Given the description of an element on the screen output the (x, y) to click on. 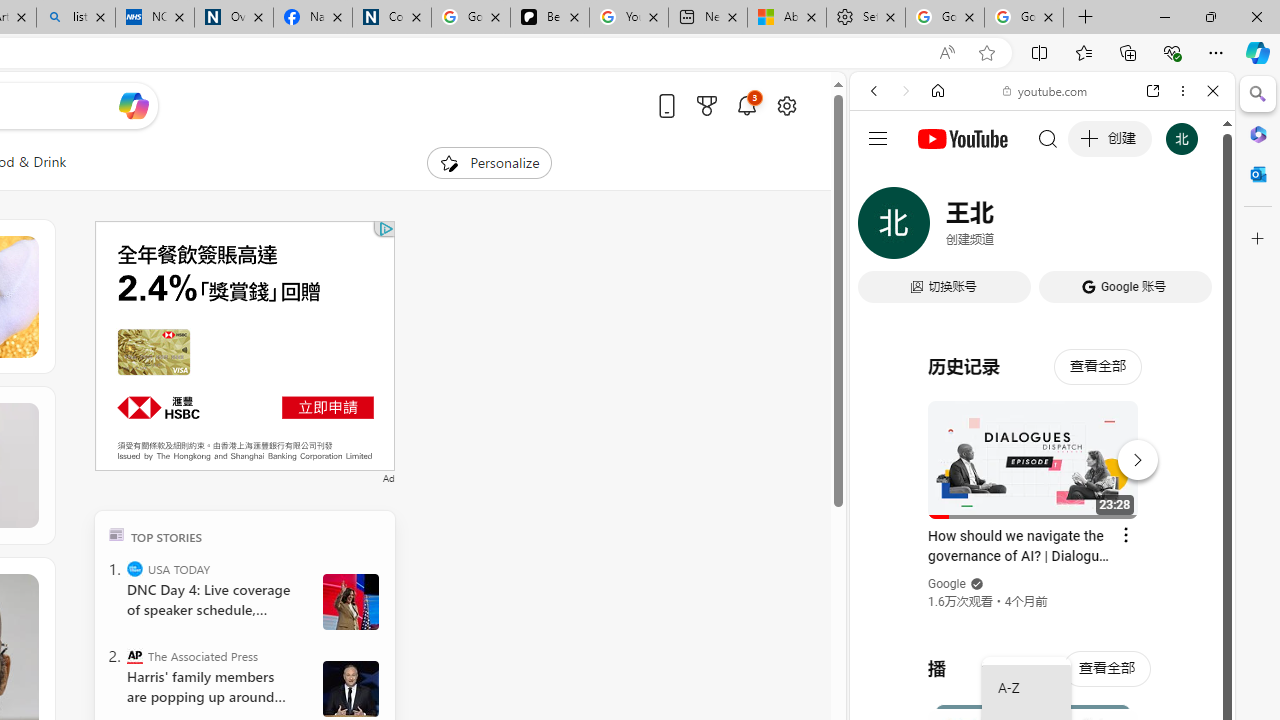
Search Filter, IMAGES (939, 228)
#you (1042, 445)
Search Filter, Search Tools (1093, 228)
Class: b_serphb (1190, 229)
